Given the description of an element on the screen output the (x, y) to click on. 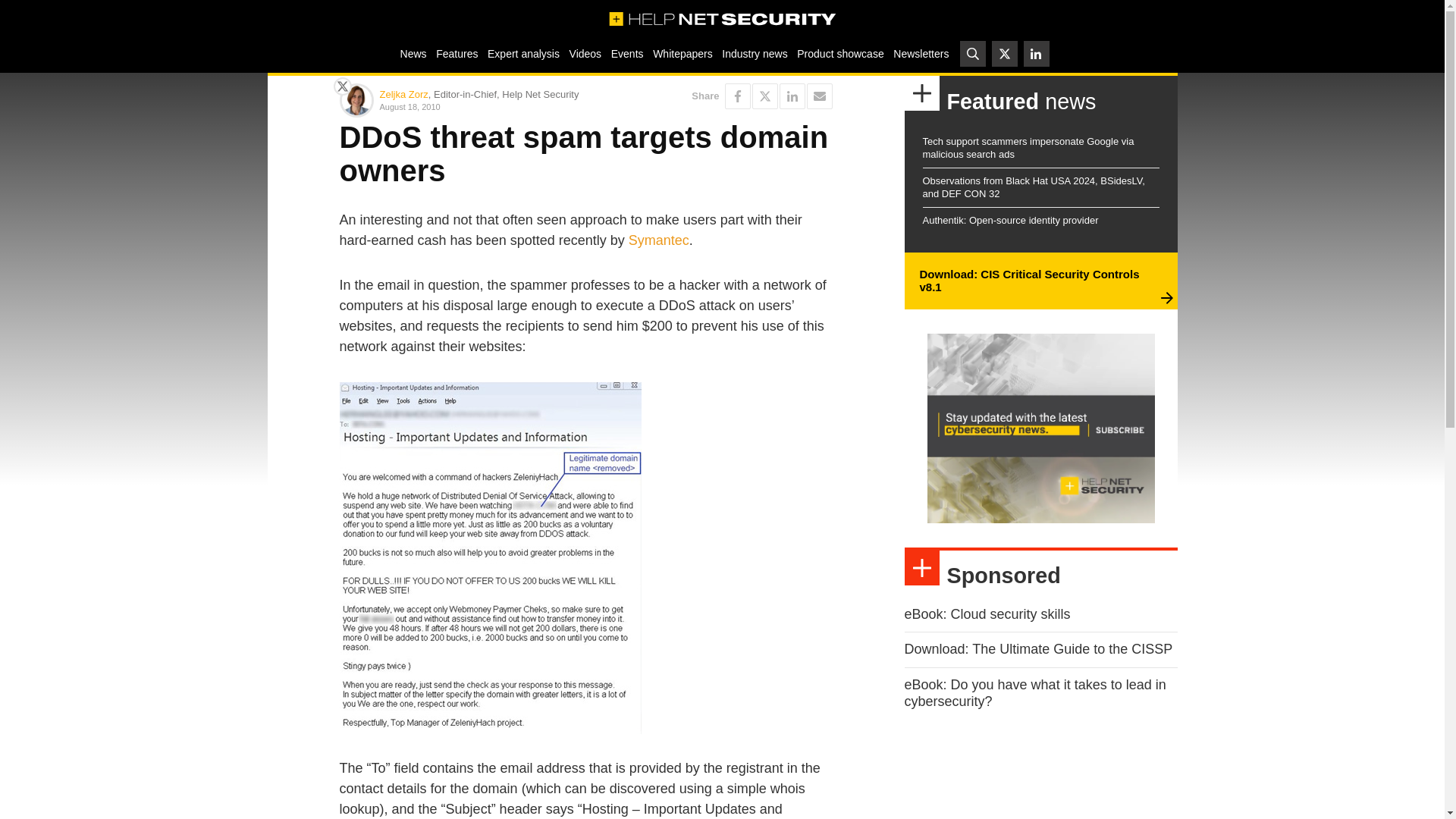
Share DDoS threat spam targets domain owners via E-mail (819, 95)
August 18, 2010 (478, 106)
Download: The Ultimate Guide to the CISSP (1038, 648)
Features (456, 53)
Events (626, 53)
Videos (584, 53)
Product showcase (840, 53)
Share DDoS threat spam targets domain owners on Facebook (738, 95)
